Given the description of an element on the screen output the (x, y) to click on. 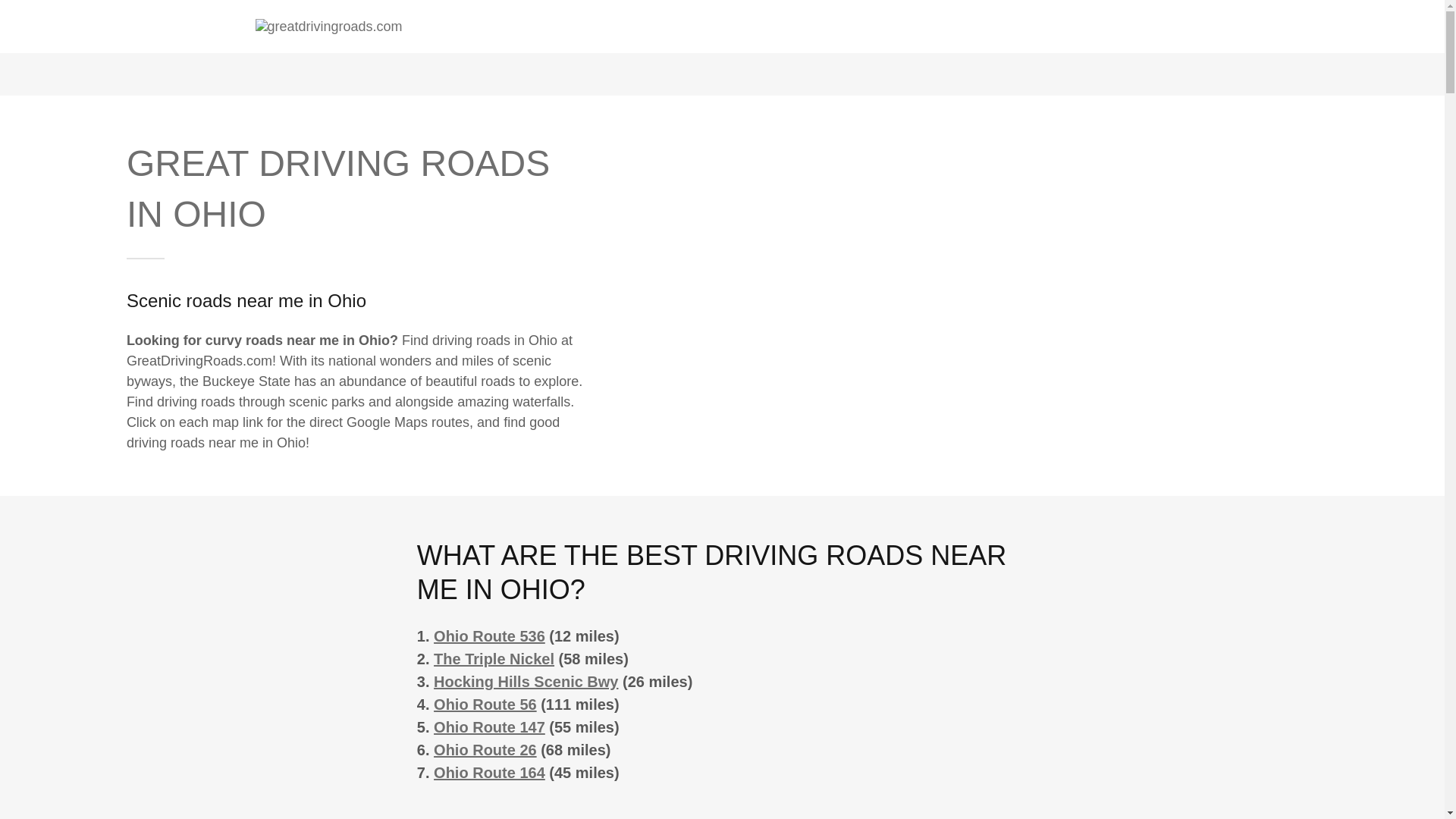
greatdrivingroads.com (327, 25)
Hocking Hills Scenic Bwy (525, 681)
Ohio Route 26 (485, 750)
Ohio Route 536 (488, 636)
Ohio Route 147 (488, 727)
The Triple Nickel (493, 658)
Ohio Route 56 (485, 704)
Ohio Route 164 (488, 772)
